Given the description of an element on the screen output the (x, y) to click on. 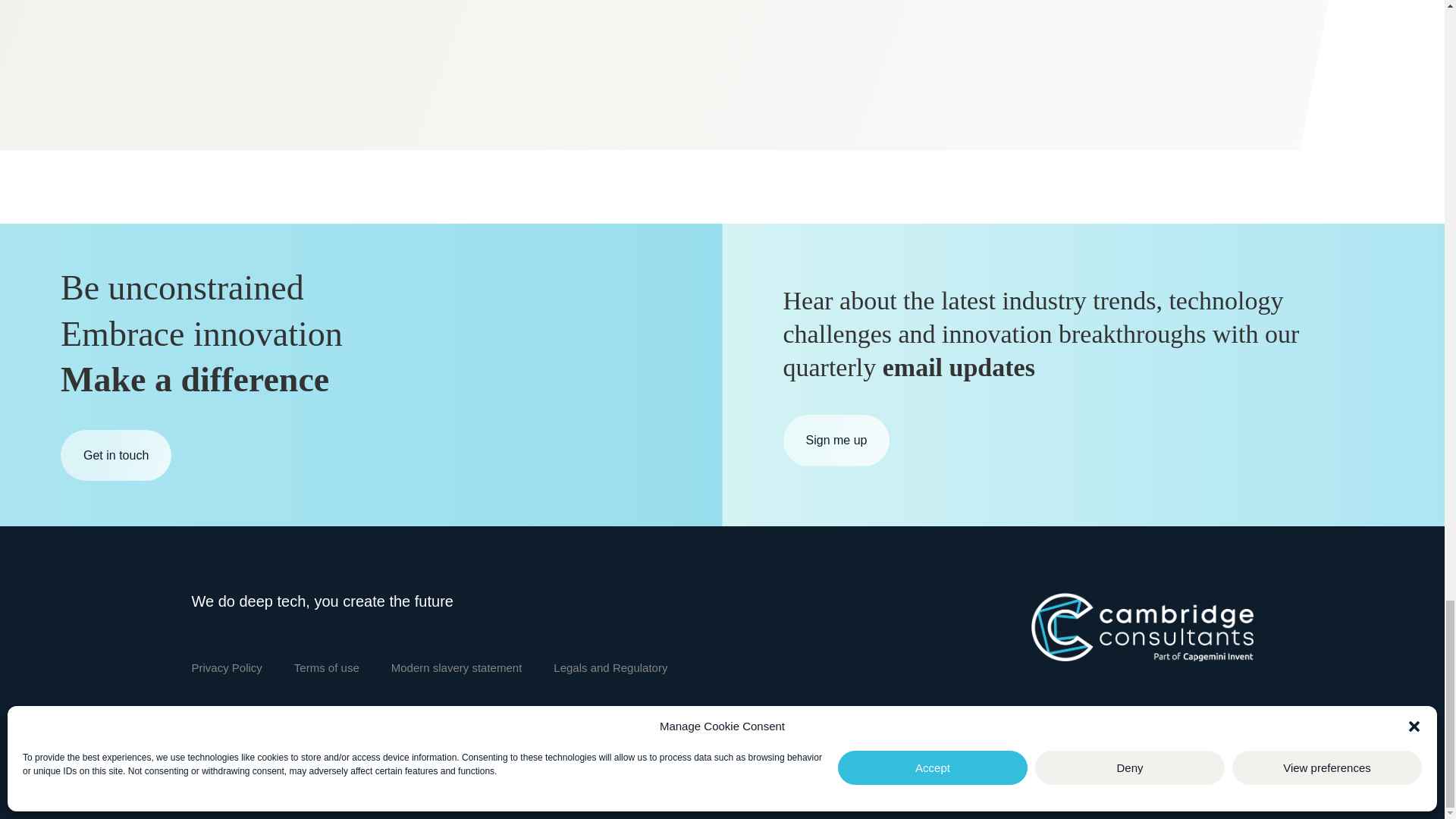
cambridge-consultants-logo-white (1141, 626)
